Given the description of an element on the screen output the (x, y) to click on. 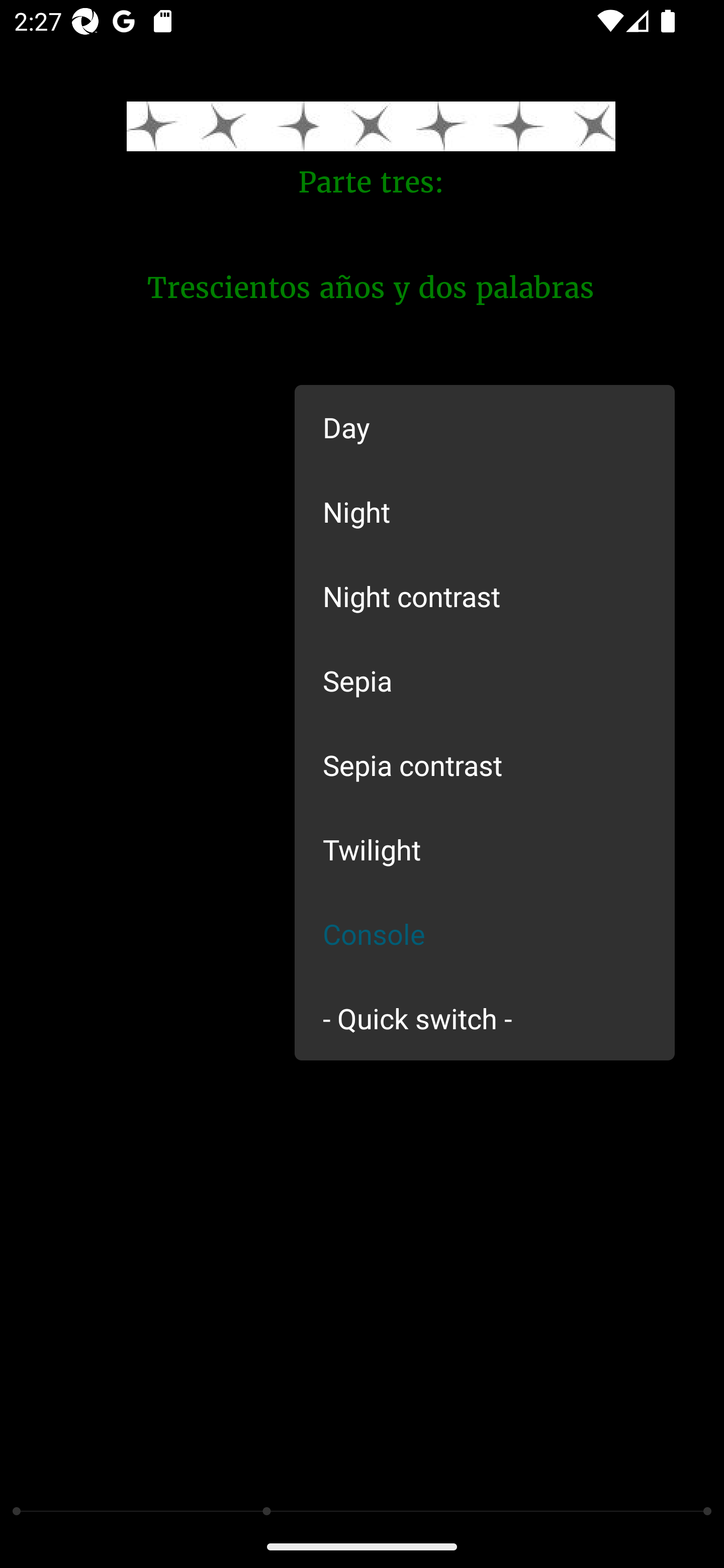
Day (484, 426)
Night (484, 510)
Night contrast (484, 595)
Sepia (484, 680)
Sepia contrast (484, 764)
Twilight (484, 849)
Console (484, 933)
- Quick switch - (484, 1017)
